Given the description of an element on the screen output the (x, y) to click on. 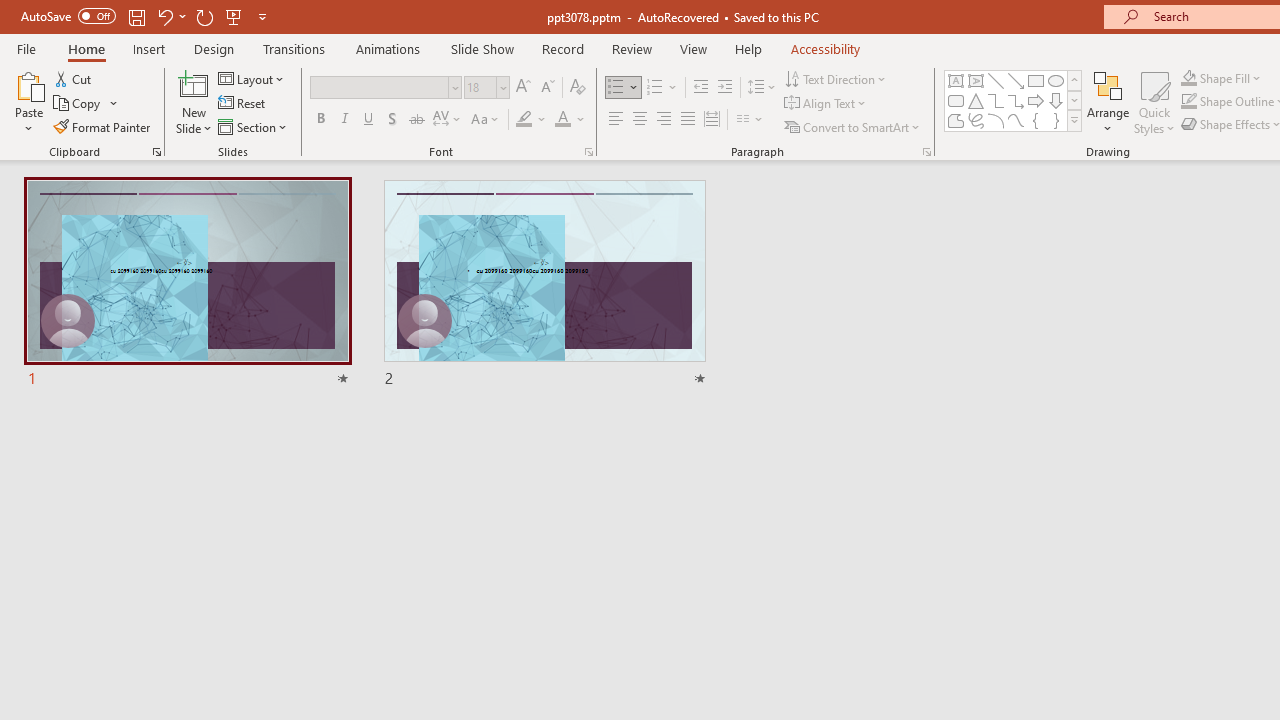
Left Brace (1035, 120)
Columns (750, 119)
Arrow: Down (1055, 100)
Bold (320, 119)
Arrange (1108, 102)
Reset (243, 103)
Cut (73, 78)
Underline (369, 119)
